Given the description of an element on the screen output the (x, y) to click on. 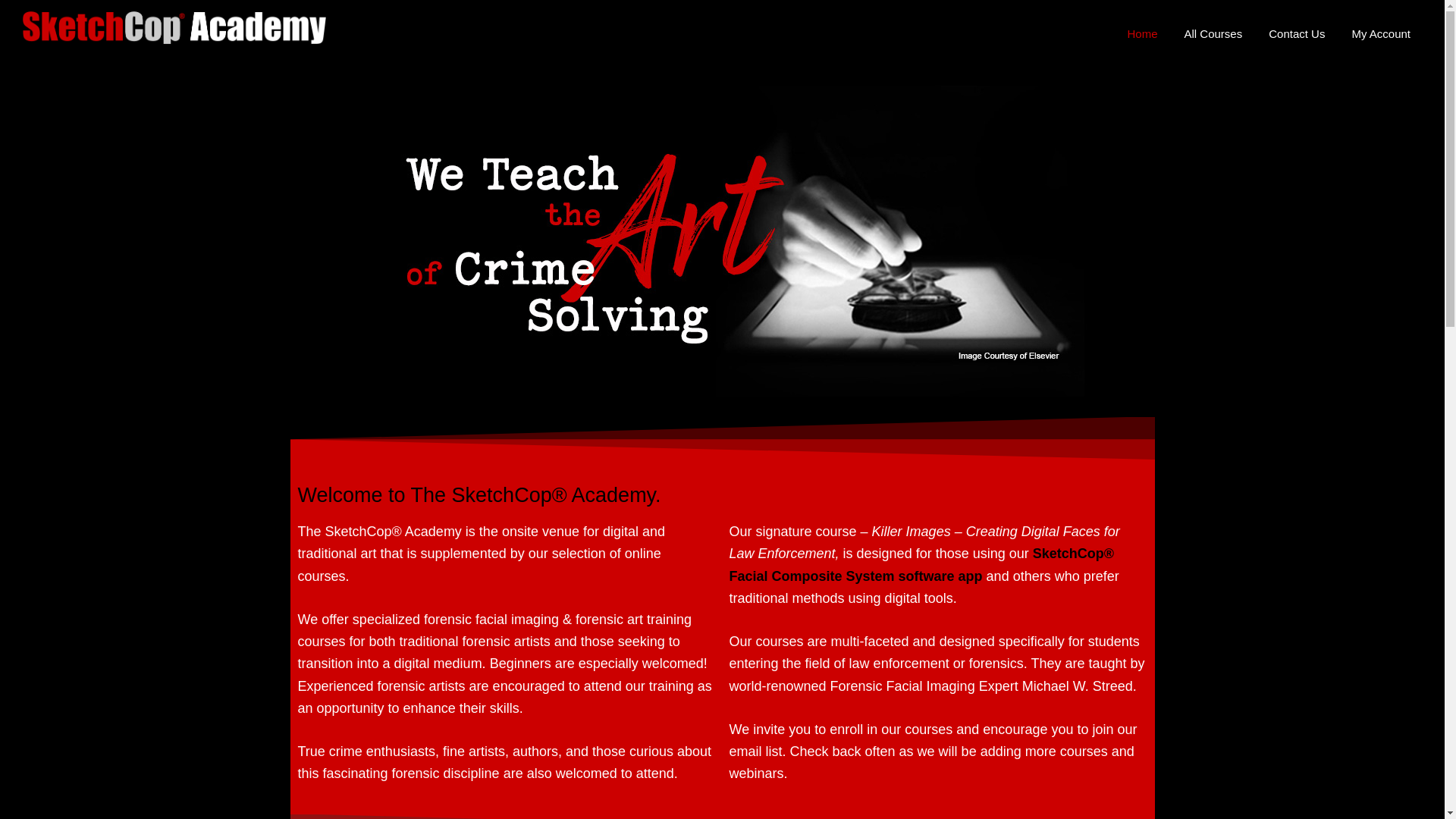
Home (1142, 33)
My Account (1380, 33)
All Courses (1213, 33)
Contact Us (1296, 33)
